Given the description of an element on the screen output the (x, y) to click on. 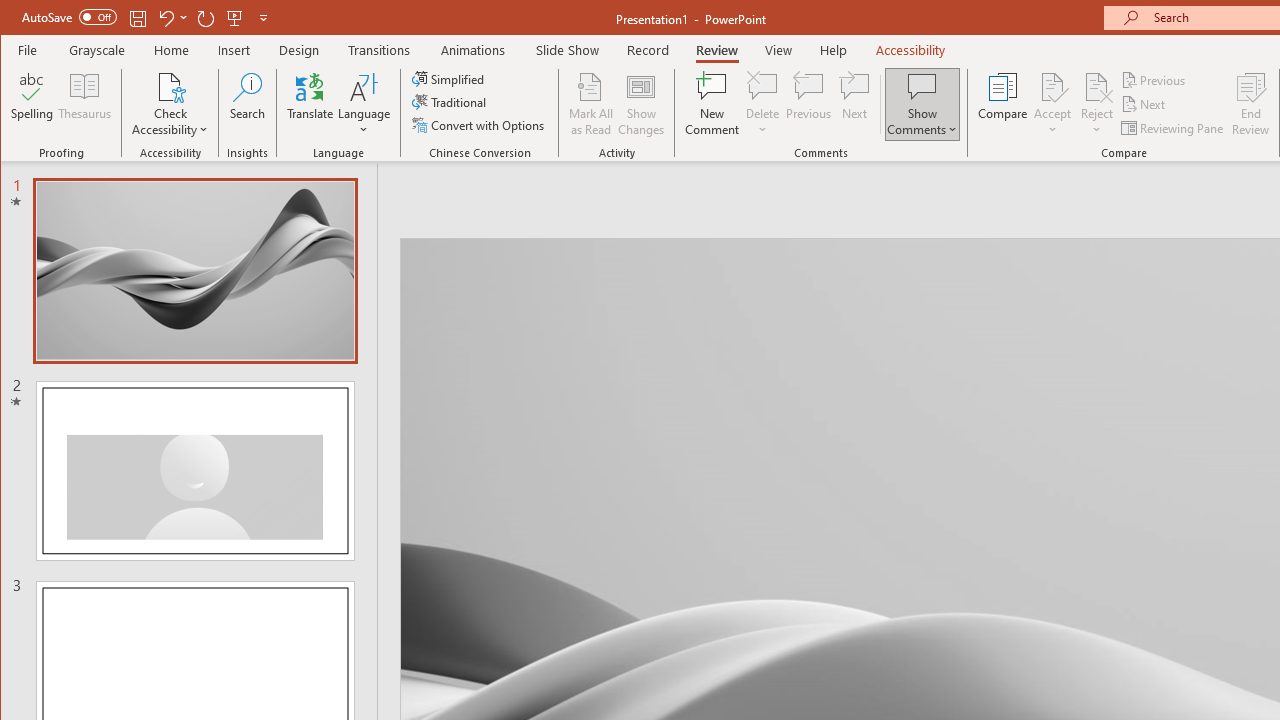
Transitions (379, 50)
Show Comments (922, 104)
Reject (1096, 104)
More Options (1096, 123)
Reject Change (1096, 86)
Show Comments (922, 86)
View (779, 50)
